Given the description of an element on the screen output the (x, y) to click on. 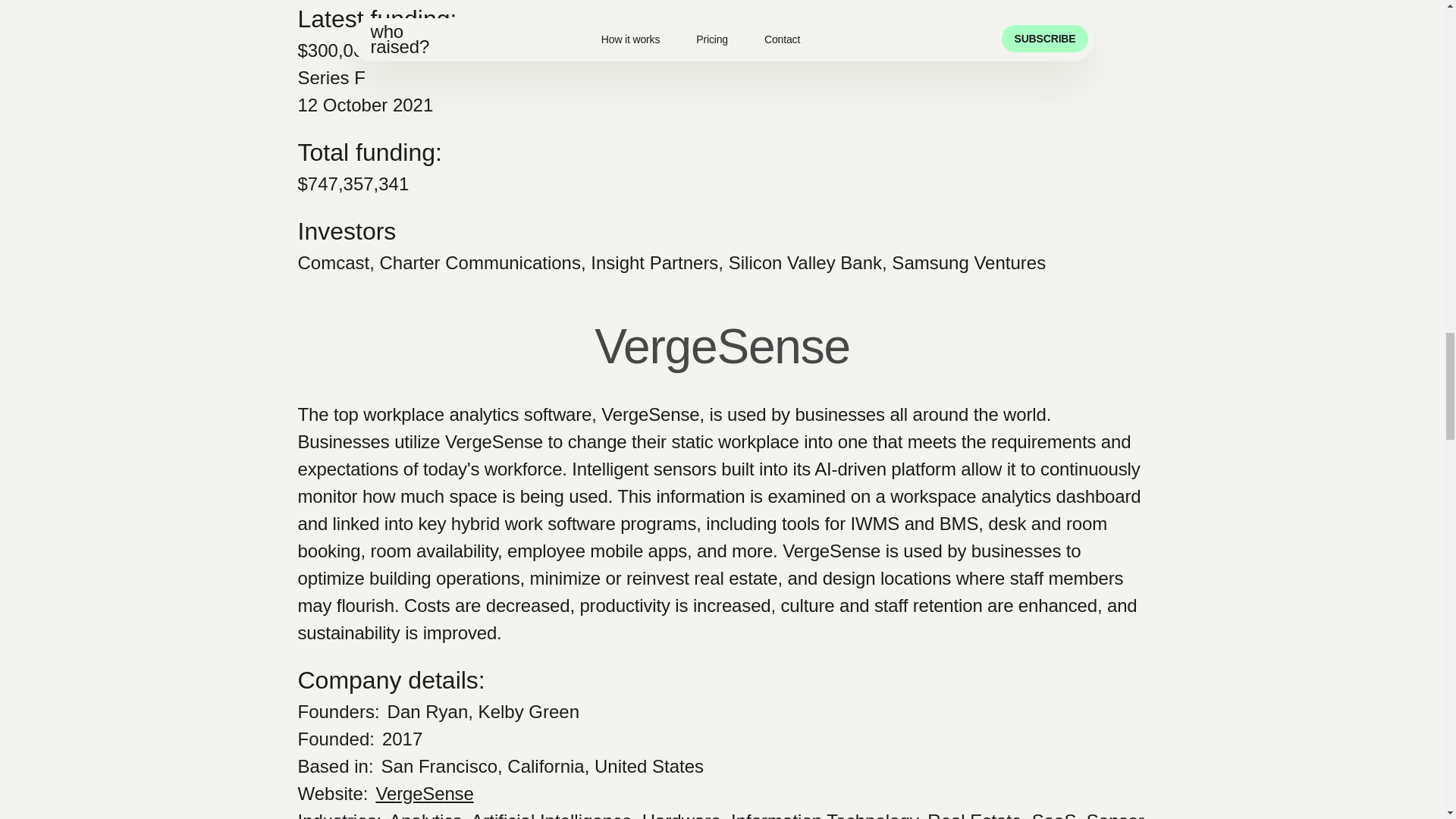
VergeSense (424, 793)
